Given the description of an element on the screen output the (x, y) to click on. 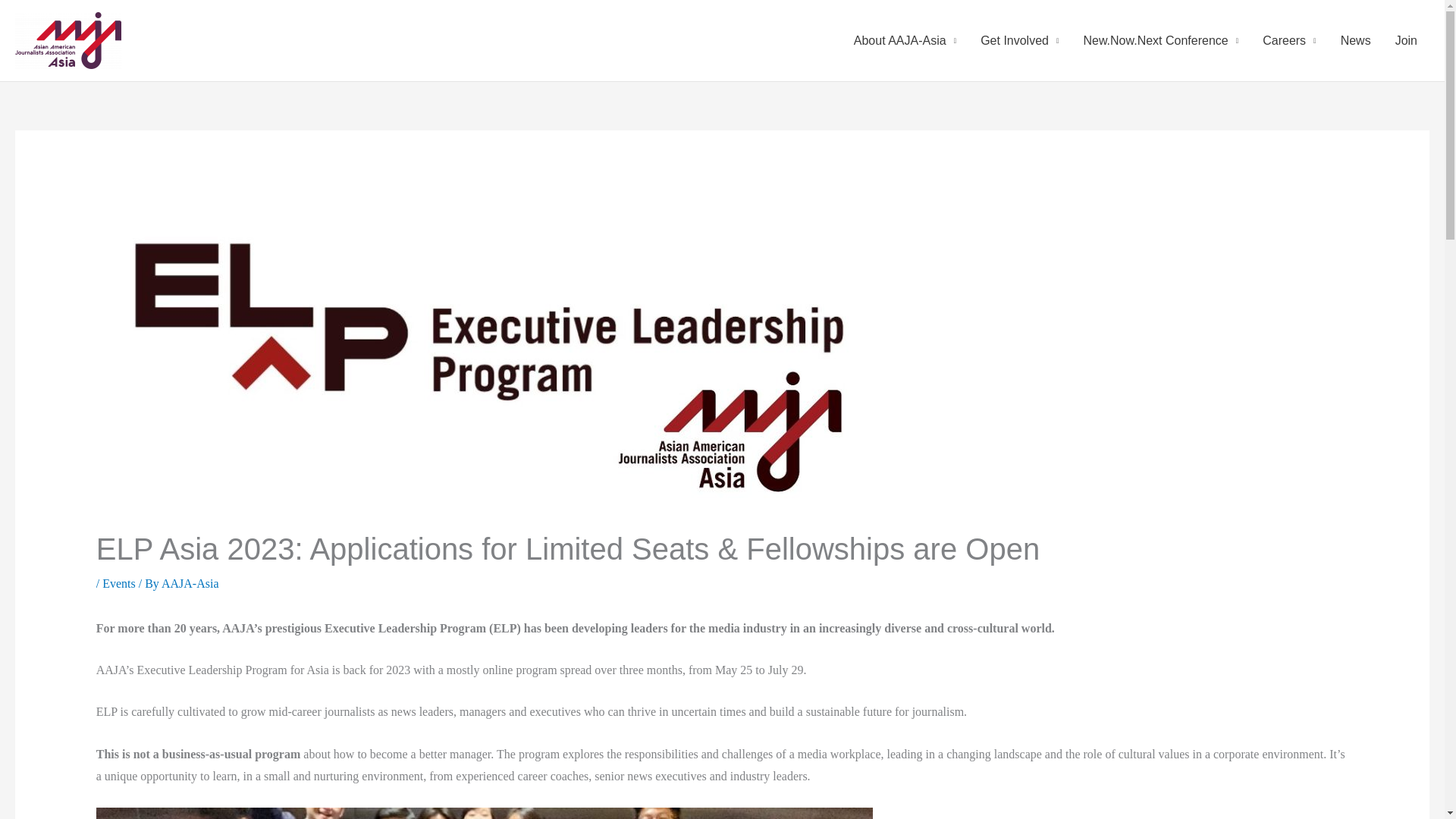
AAJA-Asia (190, 583)
New.Now.Next Conference (1160, 40)
Events (118, 583)
News (1355, 40)
Get Involved (1019, 40)
About AAJA-Asia (904, 40)
Careers (1288, 40)
Join (1406, 40)
View all posts by AAJA-Asia (190, 583)
